Given the description of an element on the screen output the (x, y) to click on. 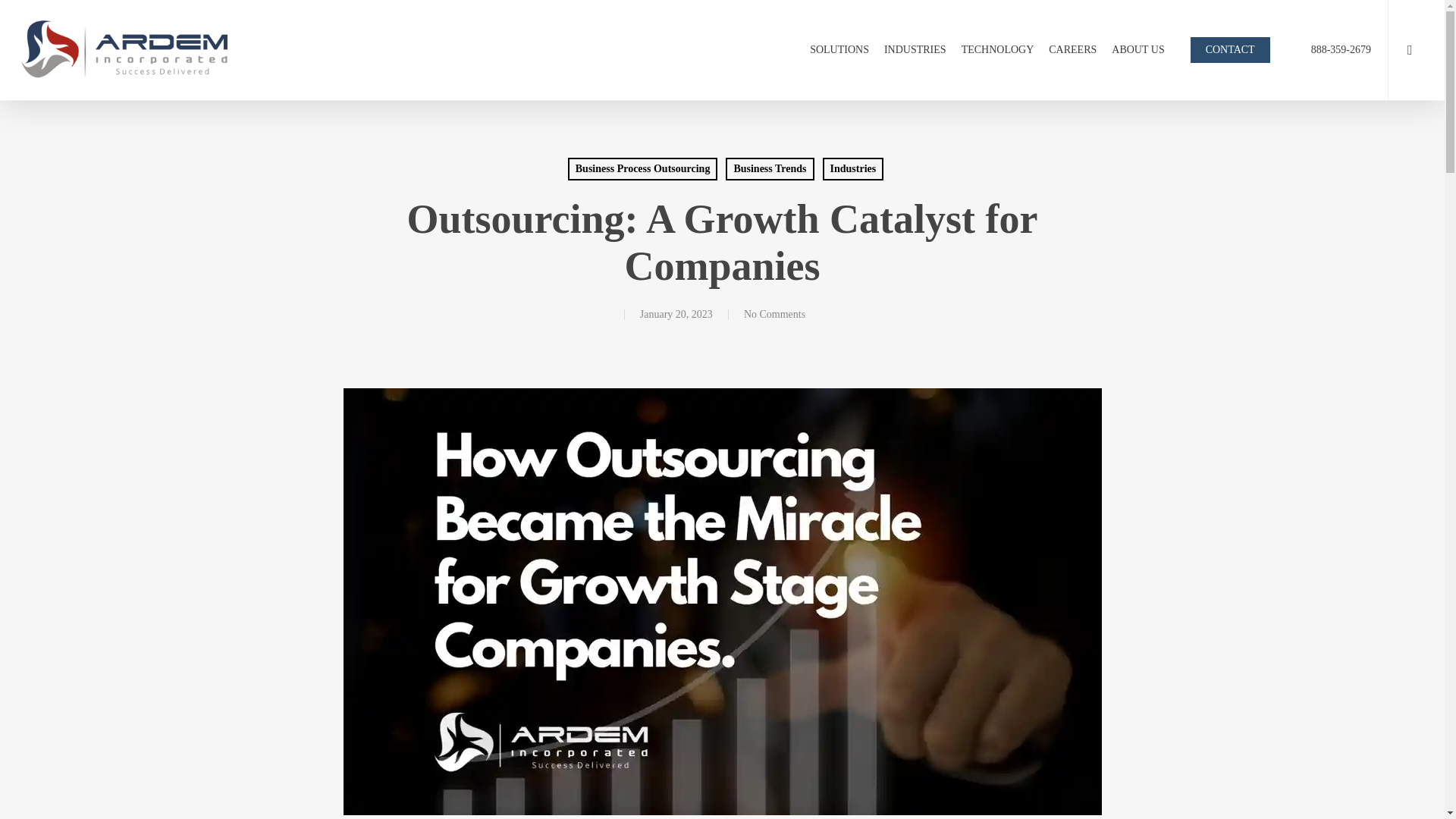
SOLUTIONS (839, 49)
